Given the description of an element on the screen output the (x, y) to click on. 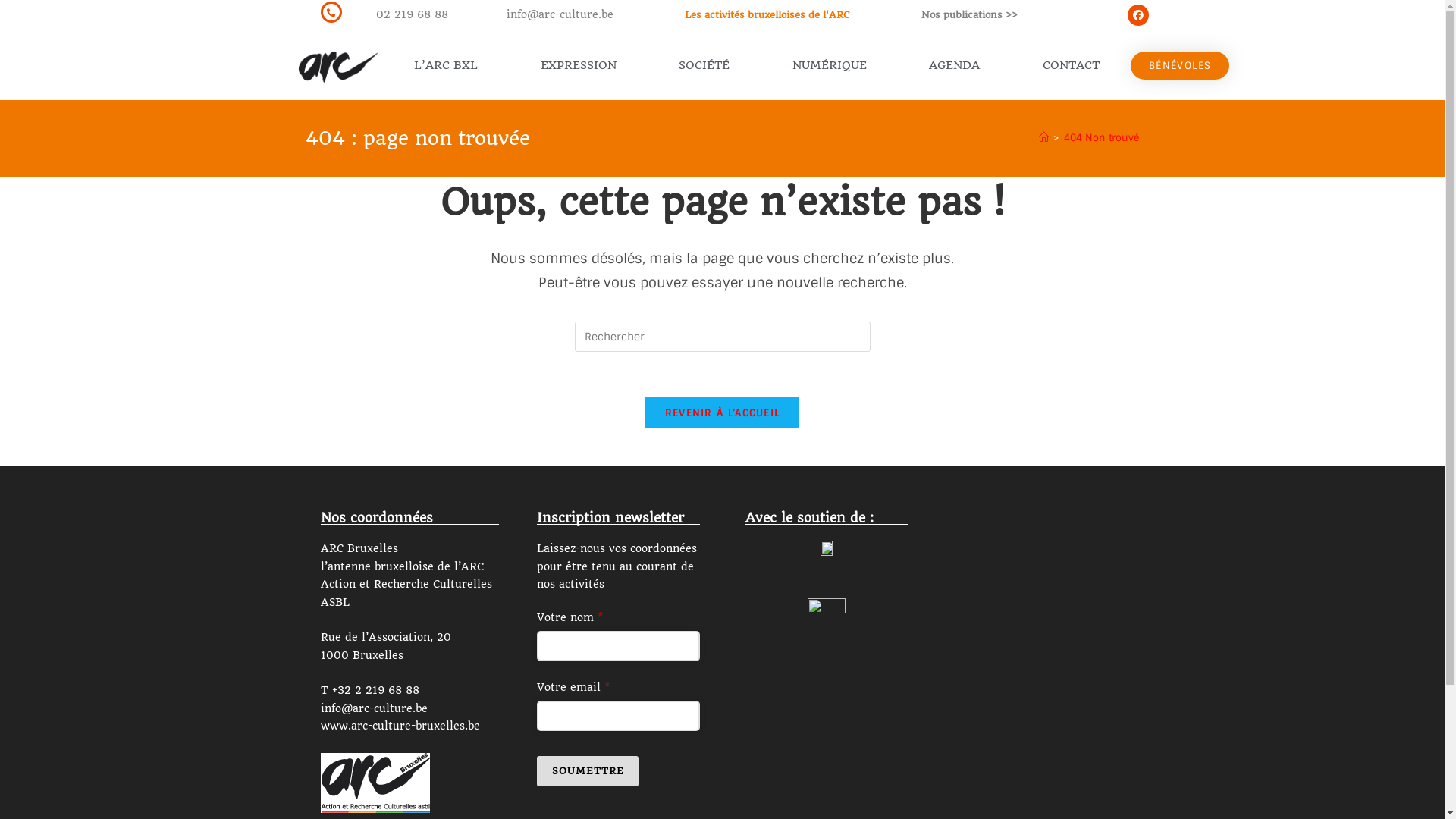
02 219 68 88 Element type: text (412, 14)
EXPRESSION Element type: text (577, 65)
Nos publications >> Element type: text (969, 14)
info@arc-culture.be Element type: text (559, 14)
SOUMETTRE Element type: text (587, 771)
AGENDA Element type: text (954, 65)
CONTACT Element type: text (1070, 65)
